Given the description of an element on the screen output the (x, y) to click on. 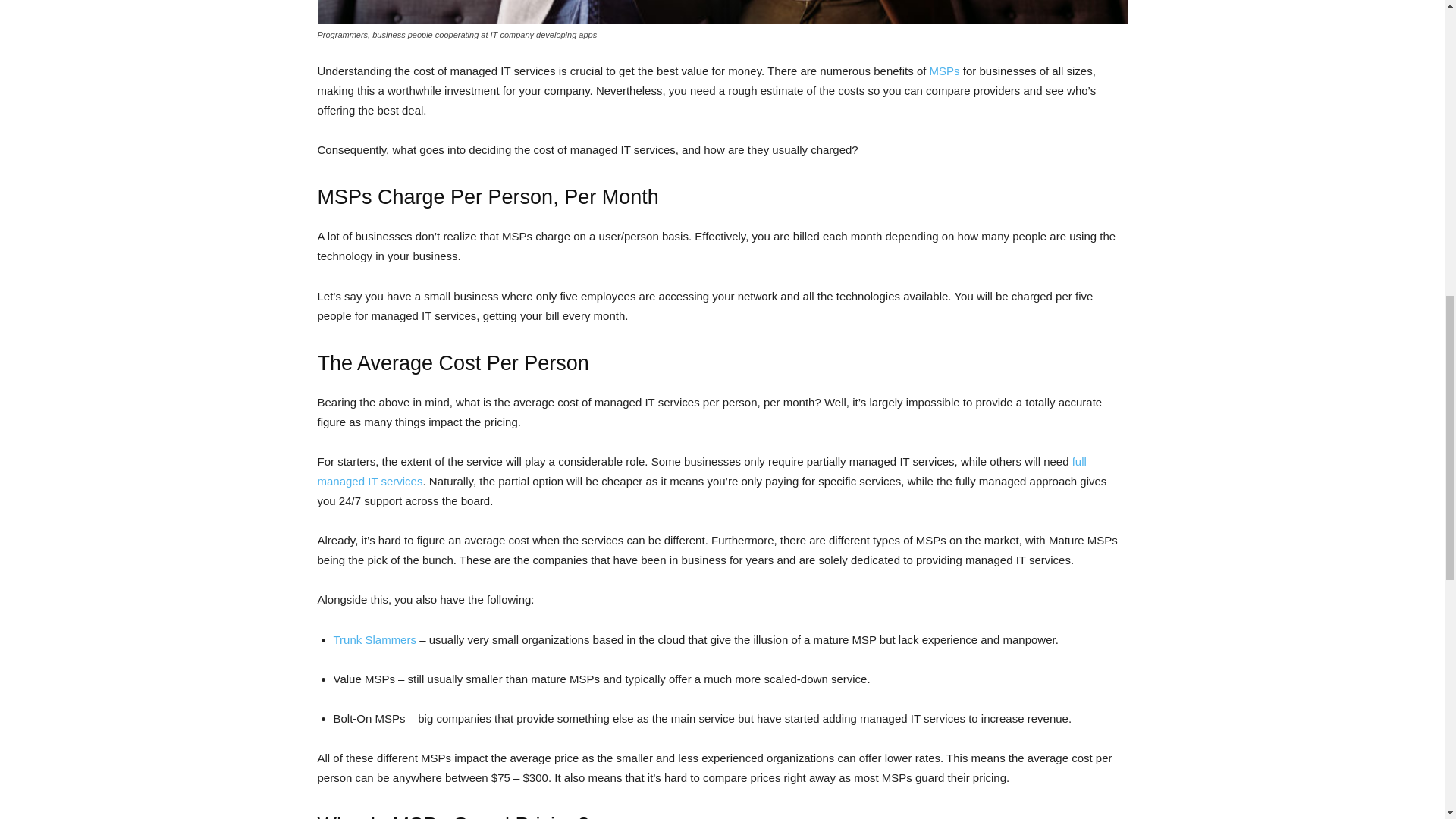
MSPs (944, 70)
Trunk Slammers (374, 638)
full managed IT services (701, 471)
How Much Does Managed IT Services Cost? (721, 12)
